Given the description of an element on the screen output the (x, y) to click on. 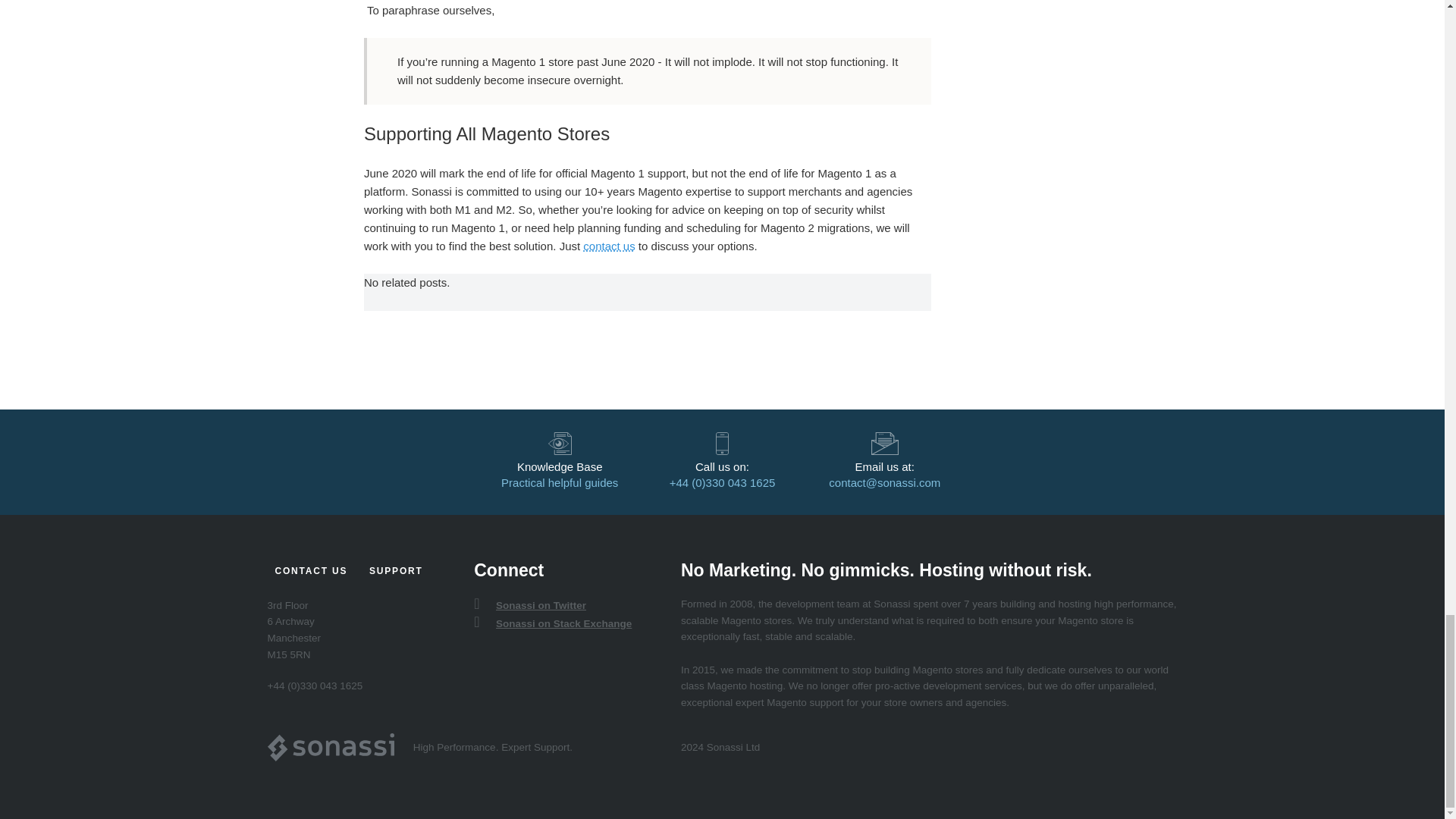
contact us (608, 245)
Practical helpful guides (558, 481)
SUPPORT (395, 571)
CONTACT US (310, 571)
Sonassi on Twitter (539, 604)
Sonassi on Stack Exchange (561, 623)
